Given the description of an element on the screen output the (x, y) to click on. 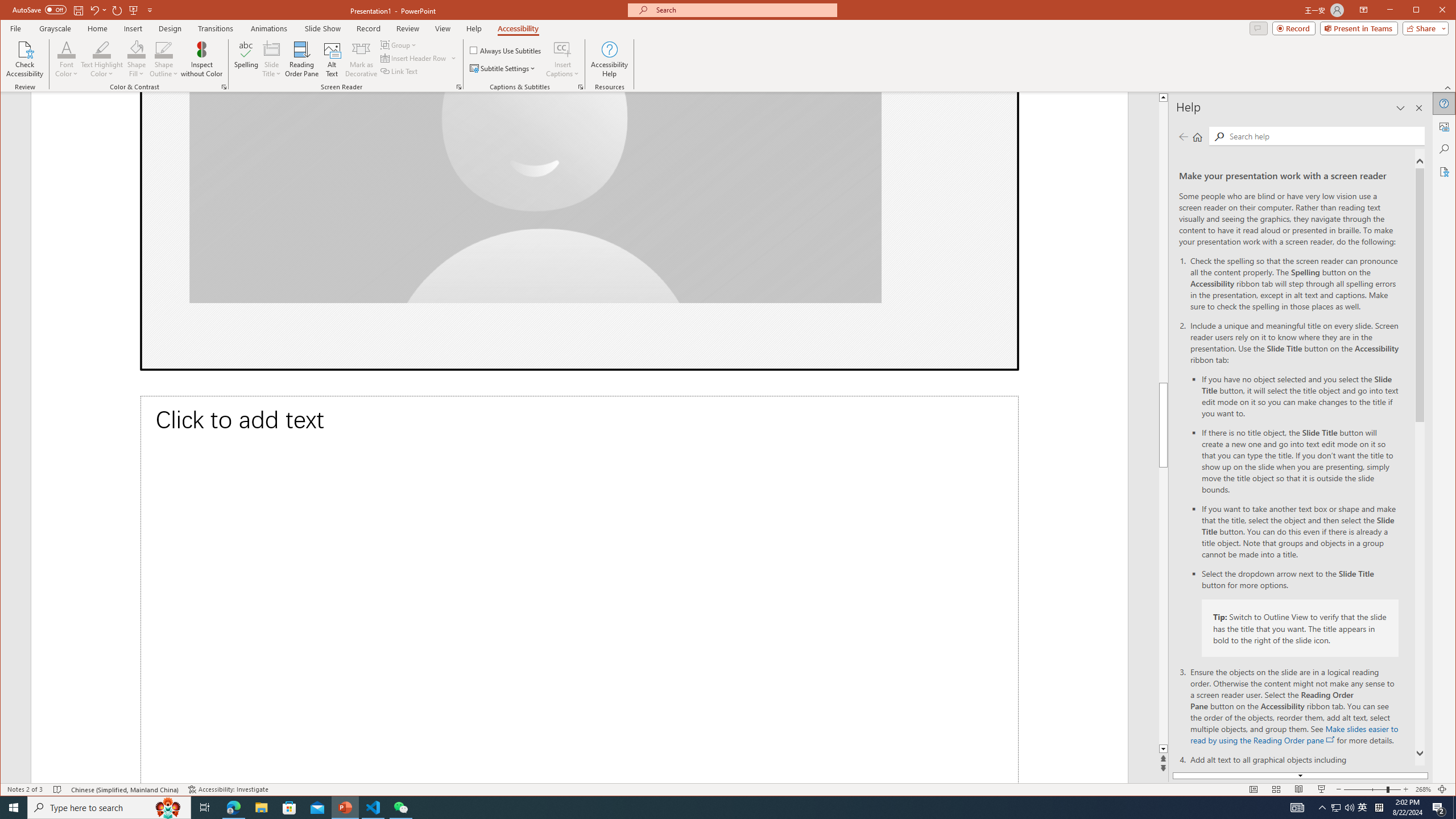
User Promoted Notification Area (1342, 807)
Notification Chevron (1322, 807)
Line down (1279, 749)
Search (1444, 148)
Search (1323, 135)
Page down (1279, 606)
Alt Text (331, 59)
openinnewwindow (1330, 739)
Color & Contrast (223, 86)
Slide Title (271, 48)
